Given the description of an element on the screen output the (x, y) to click on. 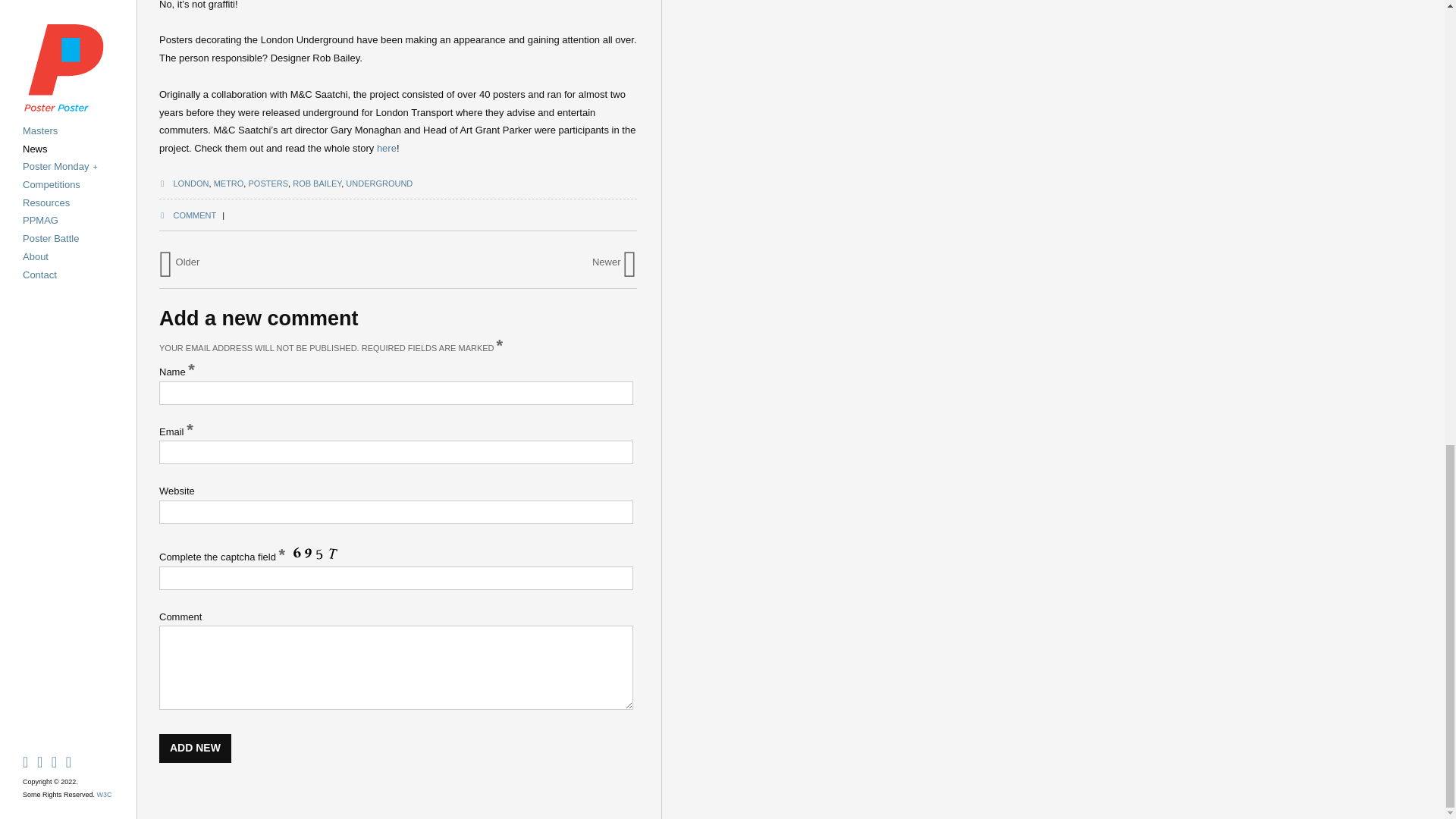
UNDERGROUND (379, 183)
COMMENT (186, 215)
here (386, 147)
METRO (229, 183)
LONDON (190, 183)
POSTERS (267, 183)
Older (178, 261)
Add new (194, 747)
Newer (614, 261)
ROB BAILEY (316, 183)
